Given the description of an element on the screen output the (x, y) to click on. 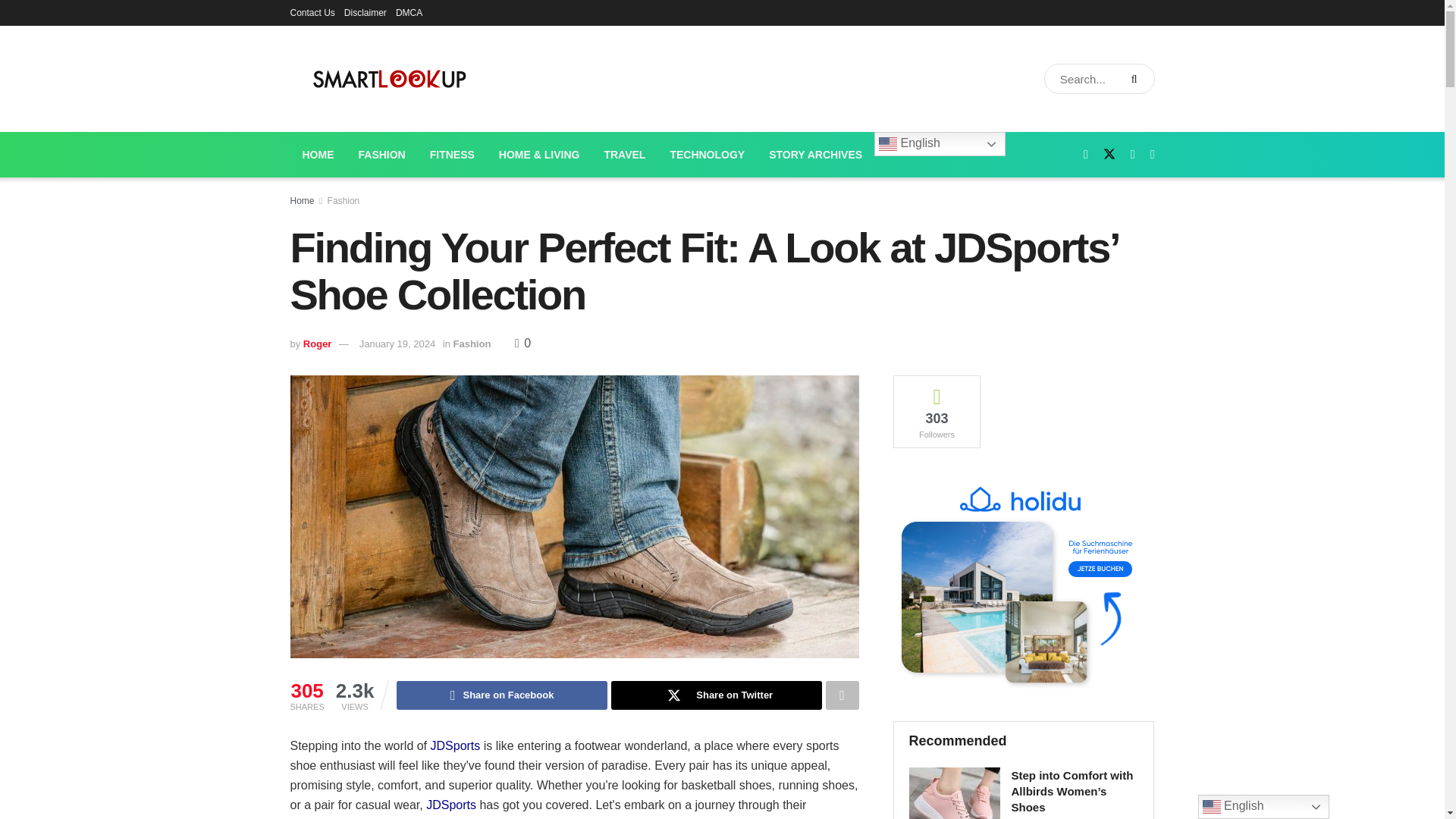
FASHION (381, 154)
STORY ARCHIVES (816, 154)
English (940, 143)
FITNESS (451, 154)
Disclaimer (365, 12)
HOME (317, 154)
Contact Us (311, 12)
TRAVEL (624, 154)
TECHNOLOGY (707, 154)
DMCA (409, 12)
